Given the description of an element on the screen output the (x, y) to click on. 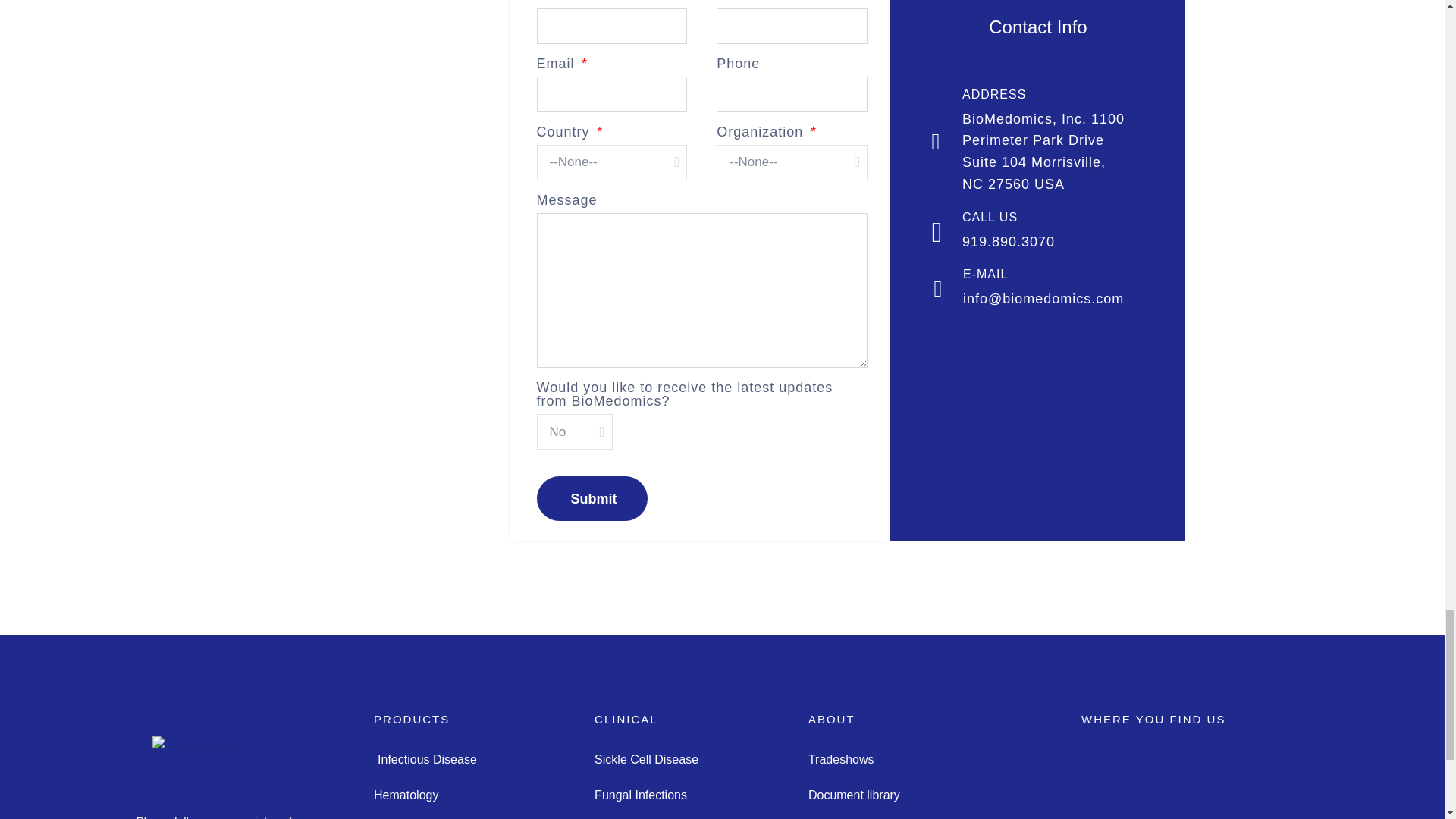
1100 Perimeter Park Drive 104  Morrisville,  (1227, 782)
CALL US (989, 216)
Submit (592, 497)
